Given the description of an element on the screen output the (x, y) to click on. 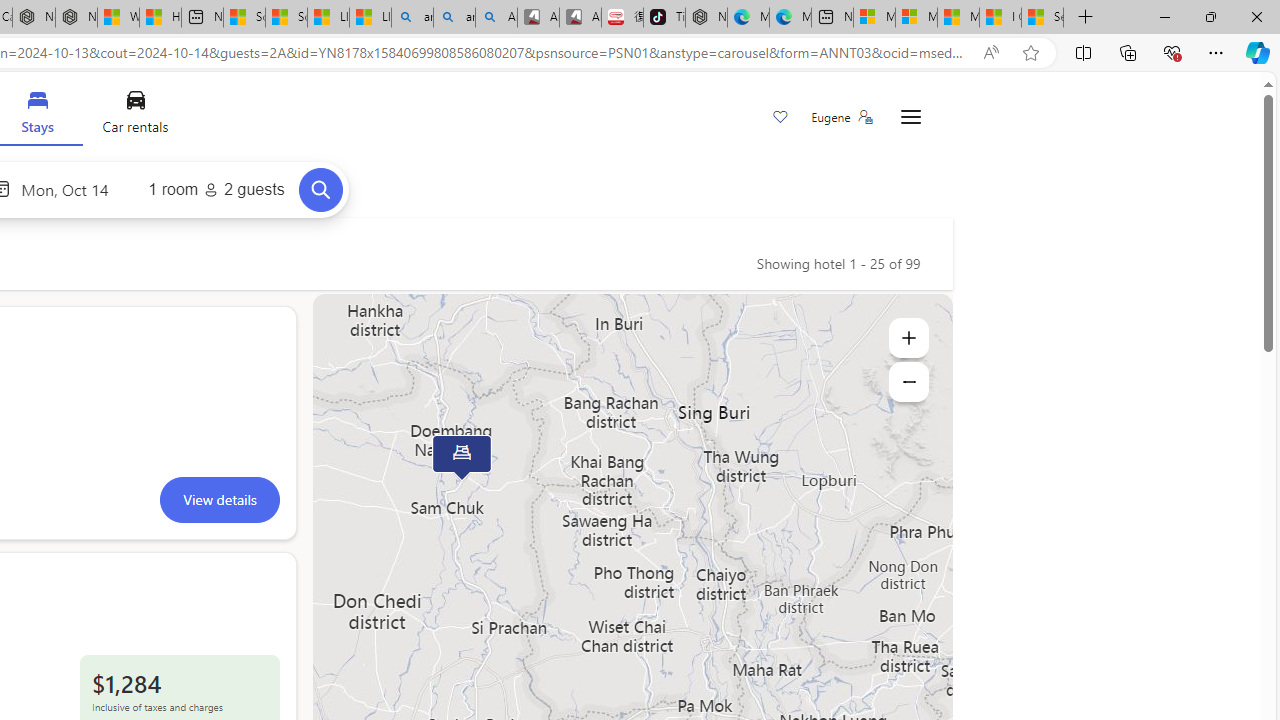
Zoom out (908, 381)
Save (780, 118)
Amazon Echo Robot - Search Images (496, 17)
